Given the description of an element on the screen output the (x, y) to click on. 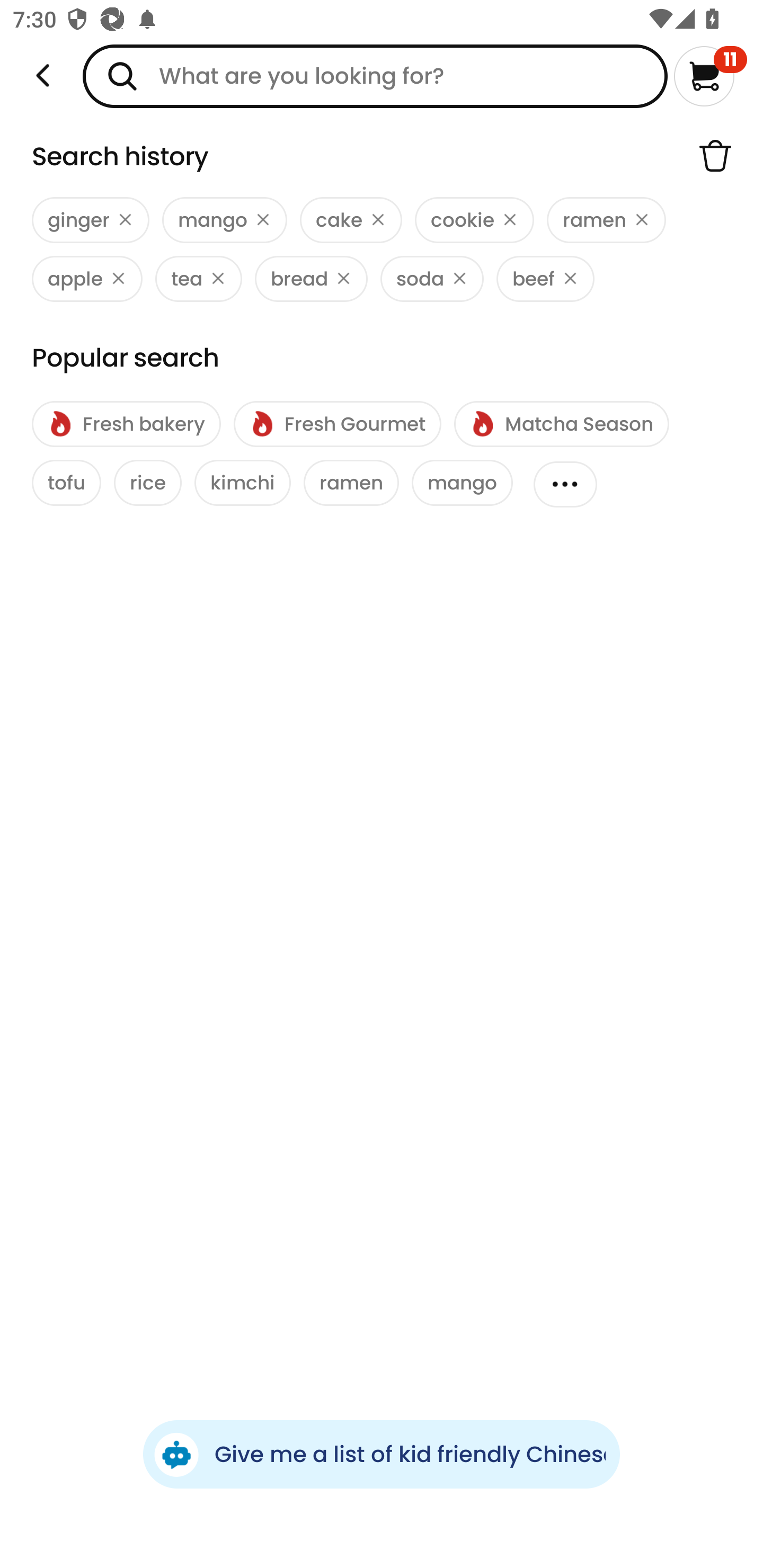
What are you looking for? (374, 75)
11 (709, 75)
Weee! (42, 76)
ginger (90, 220)
mango (223, 220)
cake (350, 220)
cookie (474, 220)
ramen (606, 220)
apple (87, 278)
tea (197, 278)
bread (310, 278)
soda (431, 278)
beef (545, 278)
Fresh bakery (126, 423)
Fresh Gourmet (337, 423)
Matcha Season (561, 423)
tofu (66, 482)
rice (147, 482)
kimchi (242, 482)
ramen (351, 482)
mango (462, 482)
